Given the description of an element on the screen output the (x, y) to click on. 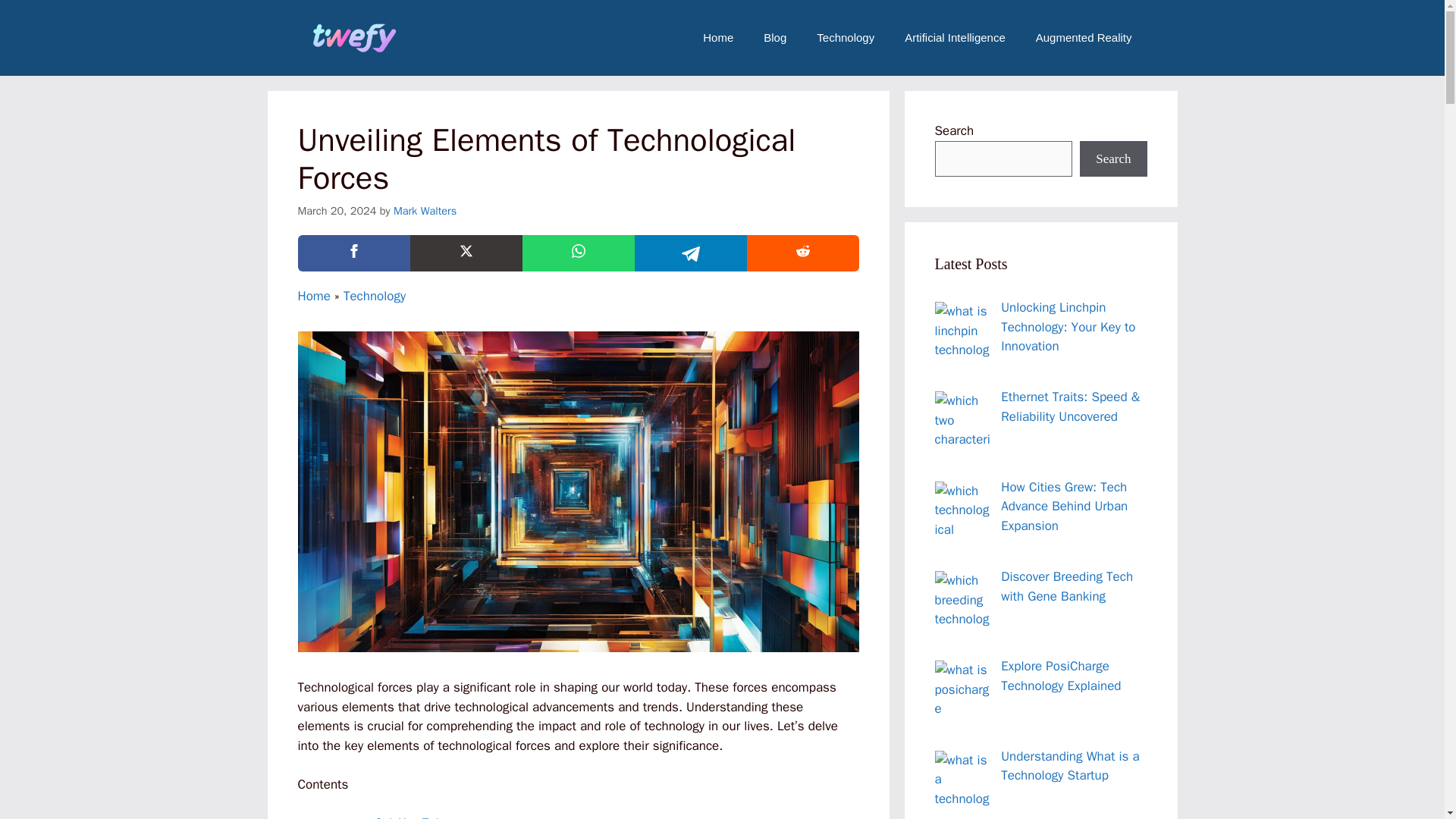
View all posts by Mark Walters (425, 210)
0.1 Key Takeaways: (430, 816)
Augmented Reality (1083, 37)
How Cities Grew: Tech Advance Behind Urban Expansion 4 (962, 509)
Explore PosiCharge Technology Explained 6 (962, 688)
Blog (775, 37)
Technology (374, 295)
Unlocking Linchpin Technology: Your Key to Innovation 2 (962, 330)
Understanding What is a Technology Startup 7 (962, 779)
